Given the description of an element on the screen output the (x, y) to click on. 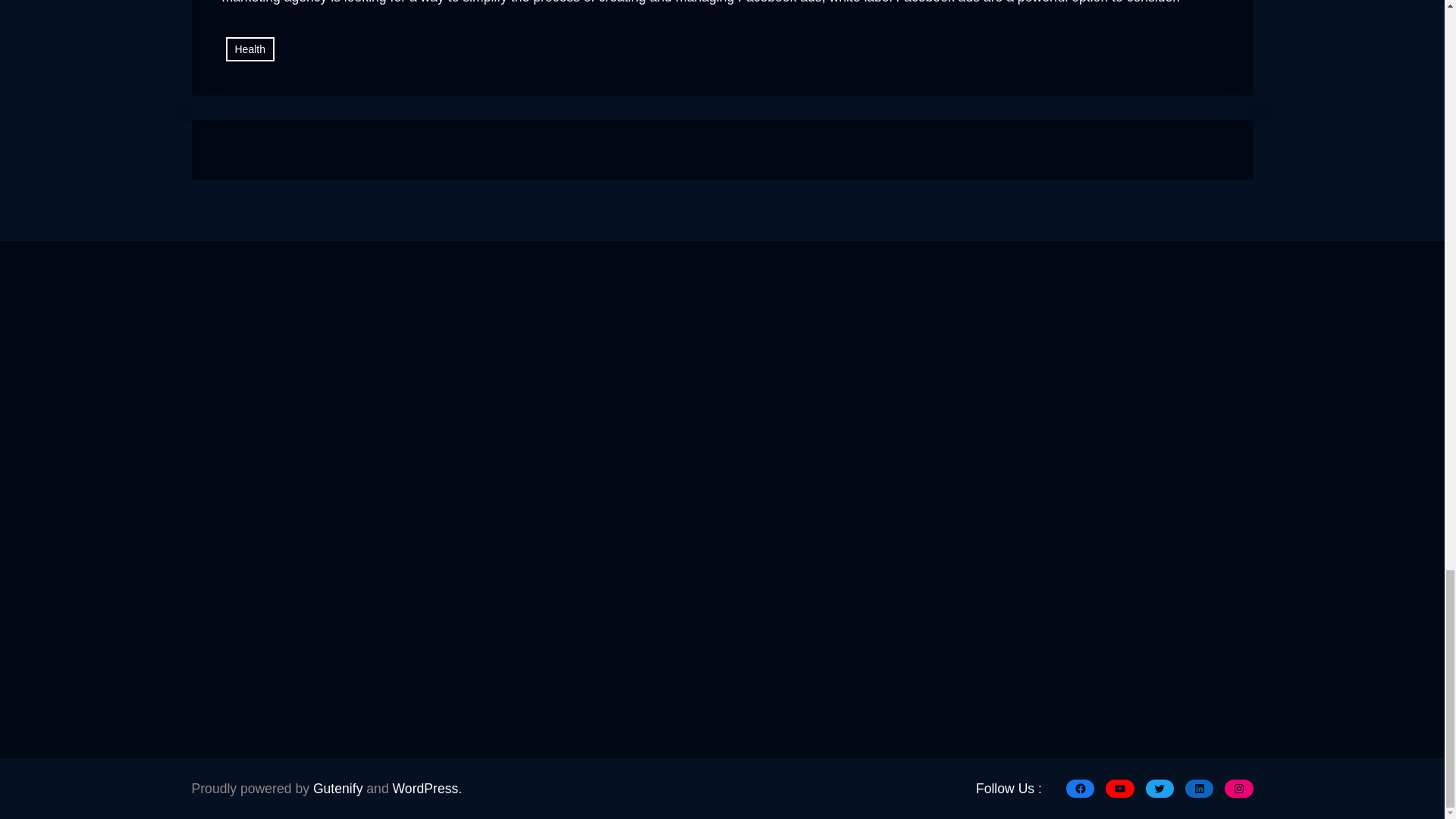
Health (250, 457)
Facebook (1079, 788)
LinkedIn (1198, 788)
Instagram (1238, 788)
YouTube (1119, 788)
WordPress. (428, 788)
Twitter (1159, 788)
Gutenify (337, 788)
